Given the description of an element on the screen output the (x, y) to click on. 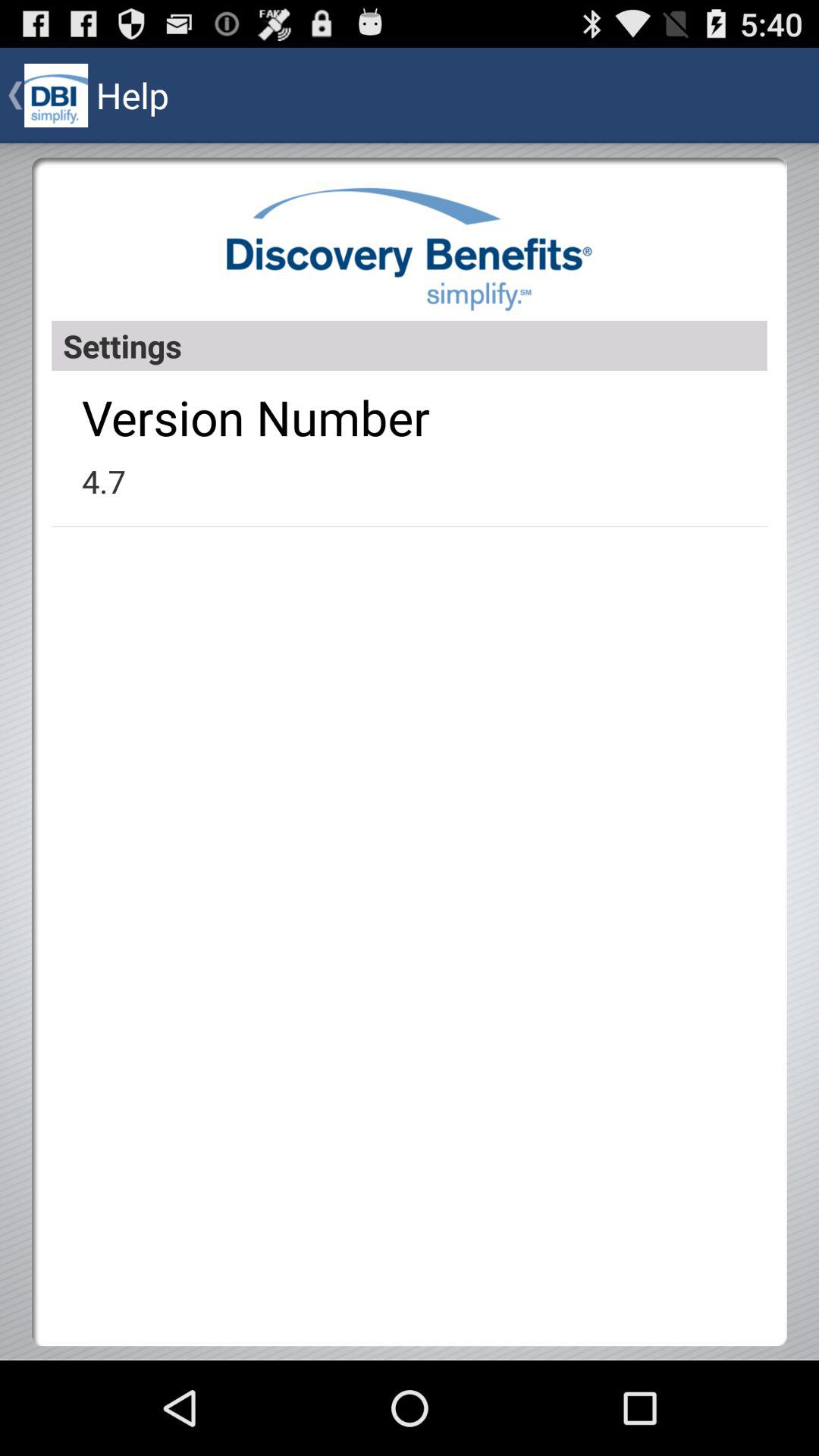
open the 4.7 app (103, 480)
